Given the description of an element on the screen output the (x, y) to click on. 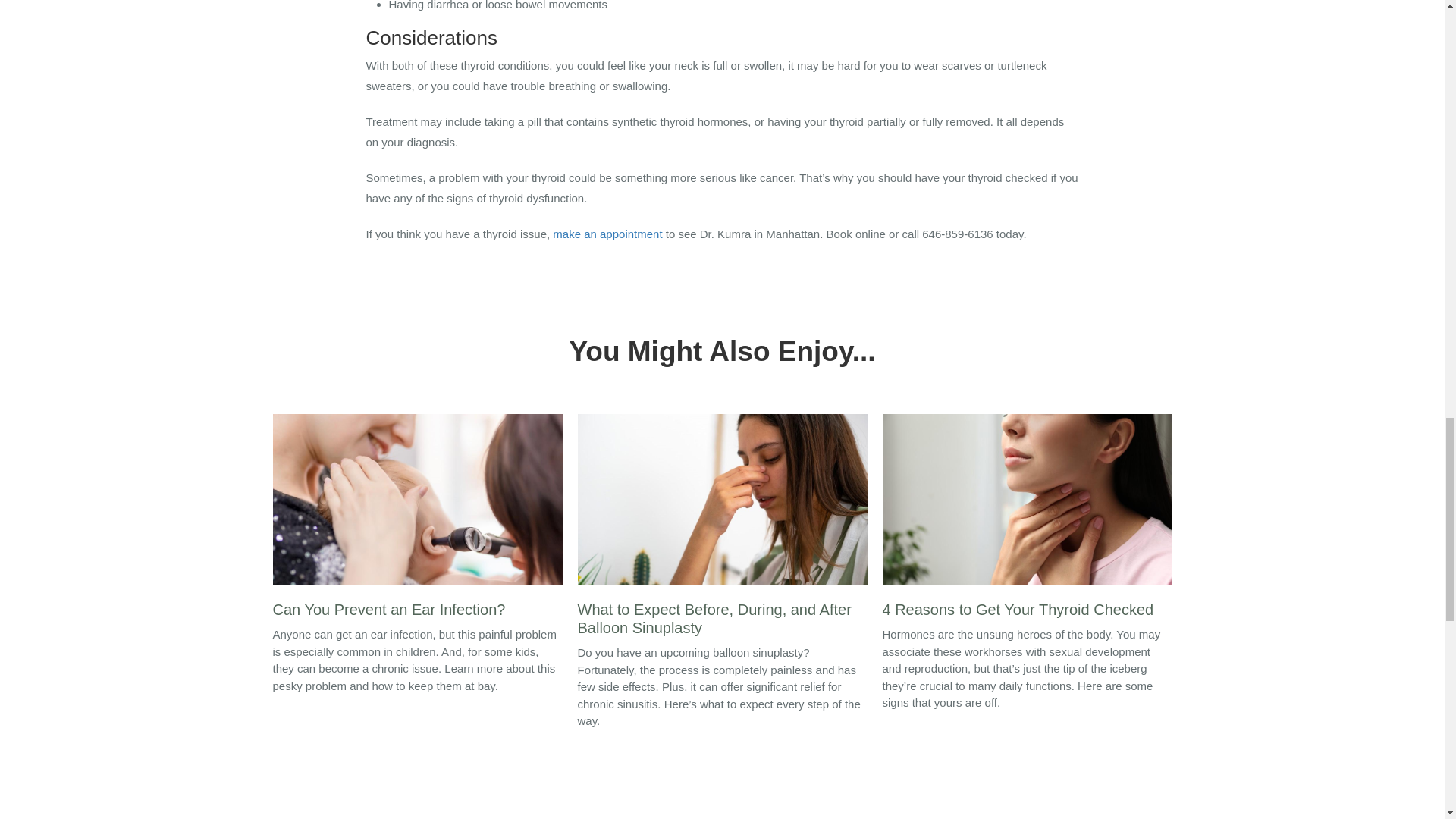
Can You Prevent an Ear Infection? (417, 520)
4 Reasons to Get Your Thyroid Checked (1027, 520)
make an appointment (607, 233)
What to Expect Before, During, and After Balloon Sinuplasty (722, 529)
